Given the description of an element on the screen output the (x, y) to click on. 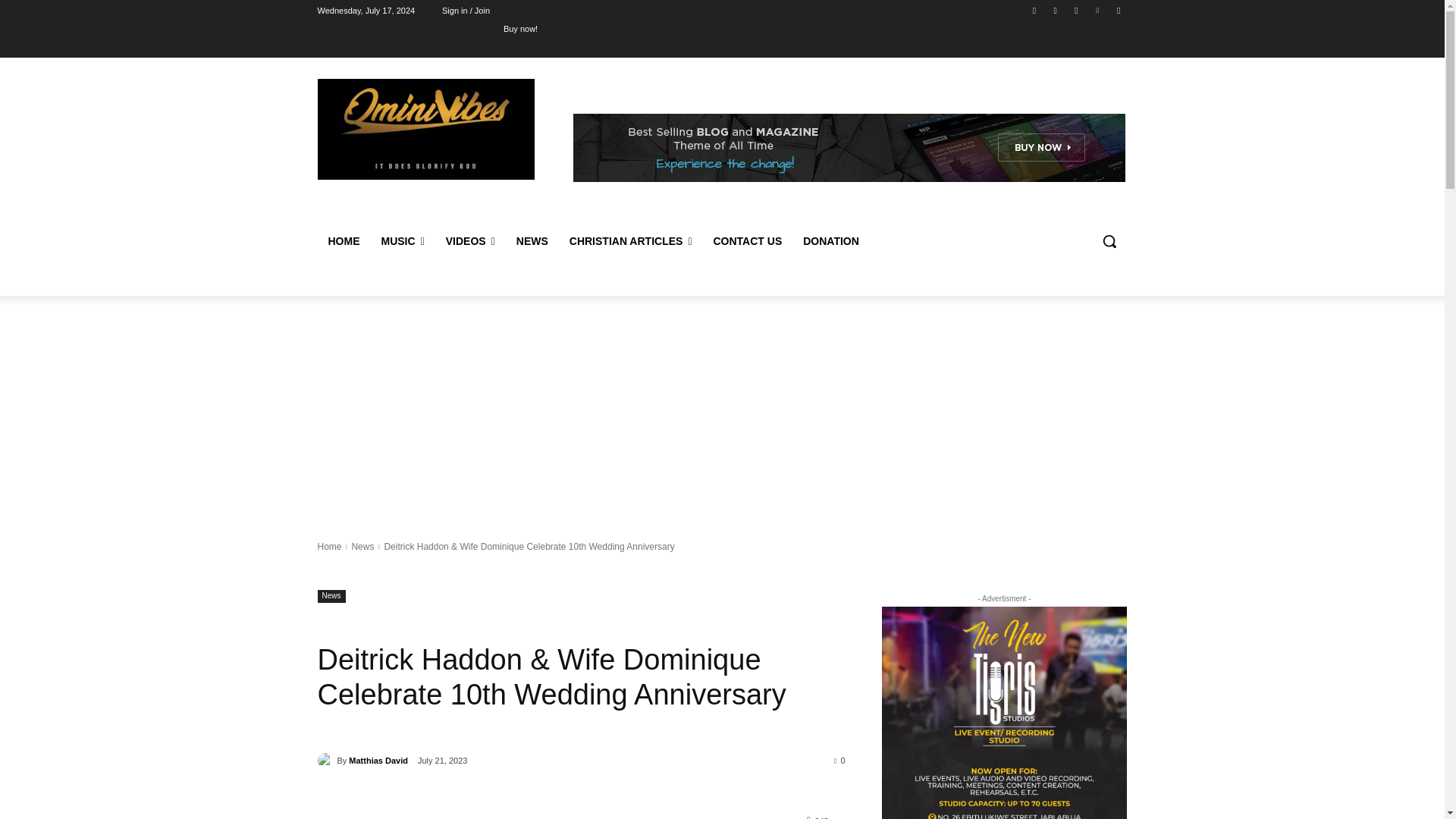
View all posts in News (362, 546)
Buy now! (520, 28)
HOME (343, 240)
Instagram (1055, 9)
Youtube (1117, 9)
Vimeo (1097, 9)
Facebook (1034, 9)
Twitter (1075, 9)
